Given the description of an element on the screen output the (x, y) to click on. 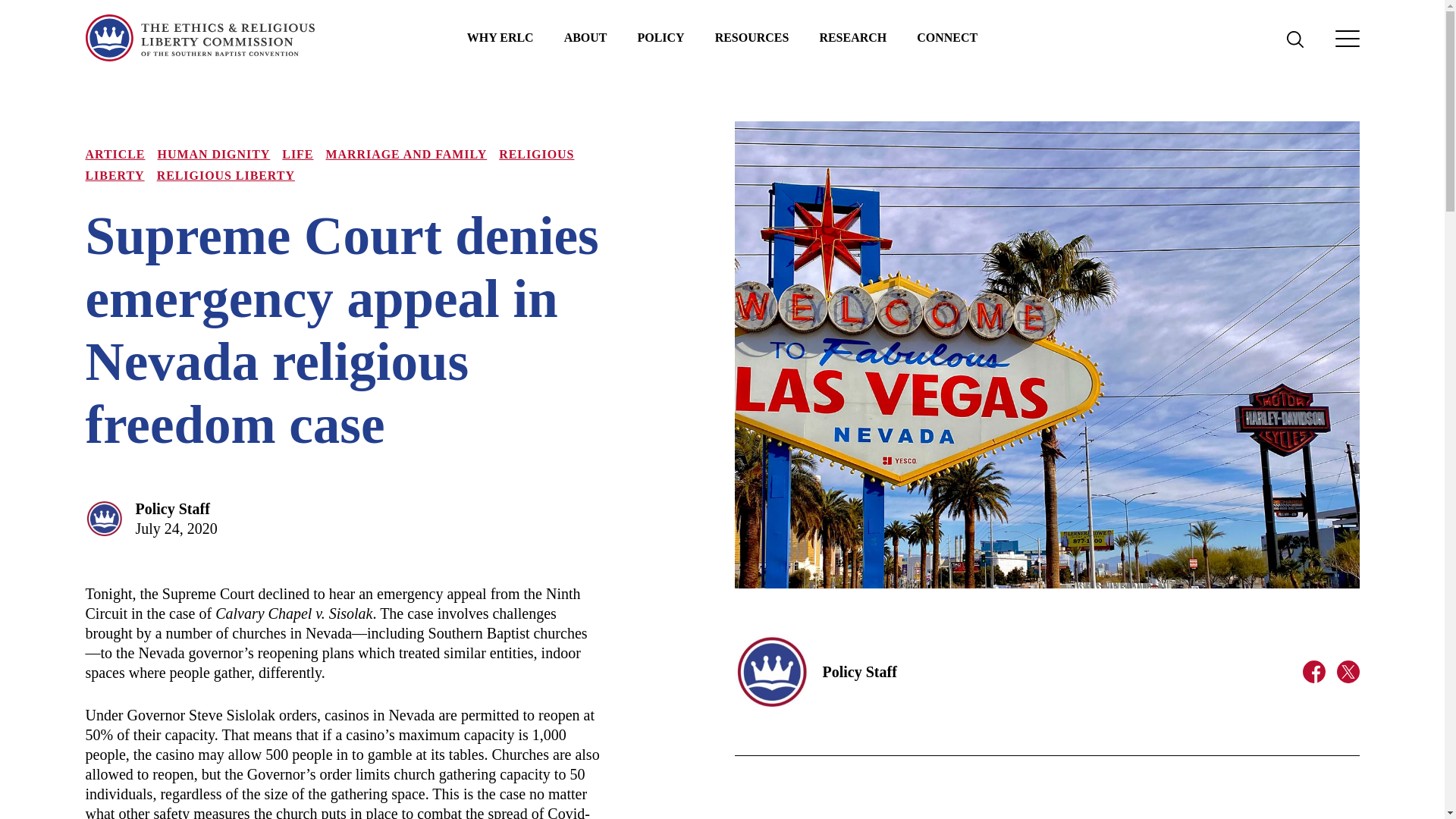
RELIGIOUS LIBERTY (226, 174)
LIFE (297, 154)
WHY ERLC (500, 38)
Resources (751, 38)
POLICY (660, 38)
ARTICLE (114, 154)
CONNECT (946, 38)
Policy Staff (172, 508)
About (585, 38)
Home (199, 38)
RESOURCES (751, 38)
HUMAN DIGNITY (213, 154)
RELIGIOUS LIBERTY (328, 164)
Research (852, 38)
Policy Staff (859, 671)
